Given the description of an element on the screen output the (x, y) to click on. 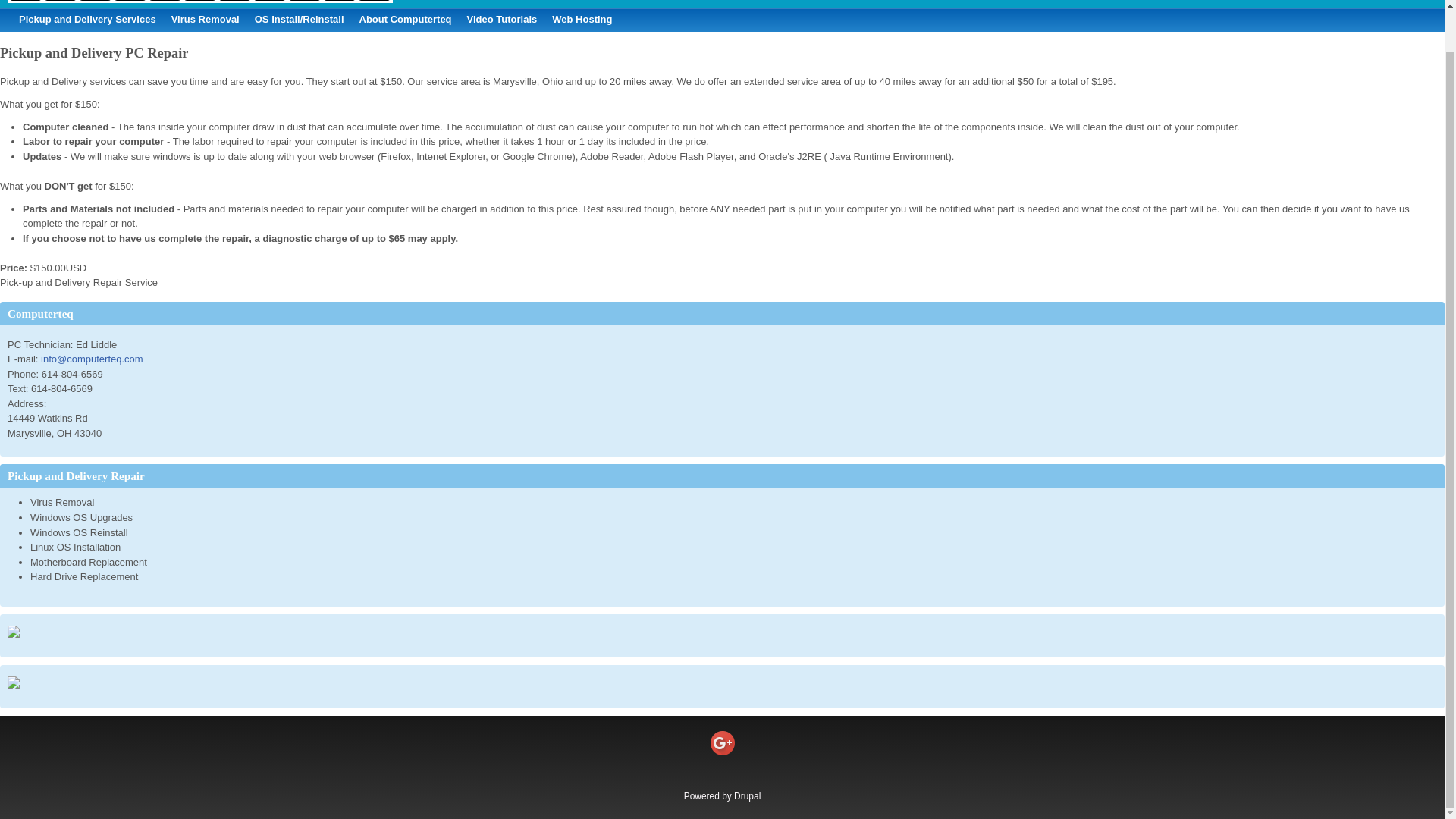
About Computerteq (406, 19)
Virus Removal (205, 19)
Web Hosting (582, 19)
Screen casts to show how to use a computer. (502, 19)
Pickup and Delivery Services (87, 19)
Virus Removal (205, 19)
Fast and Convenient (87, 19)
Video Tutorials (502, 19)
Drupal (746, 796)
